Given the description of an element on the screen output the (x, y) to click on. 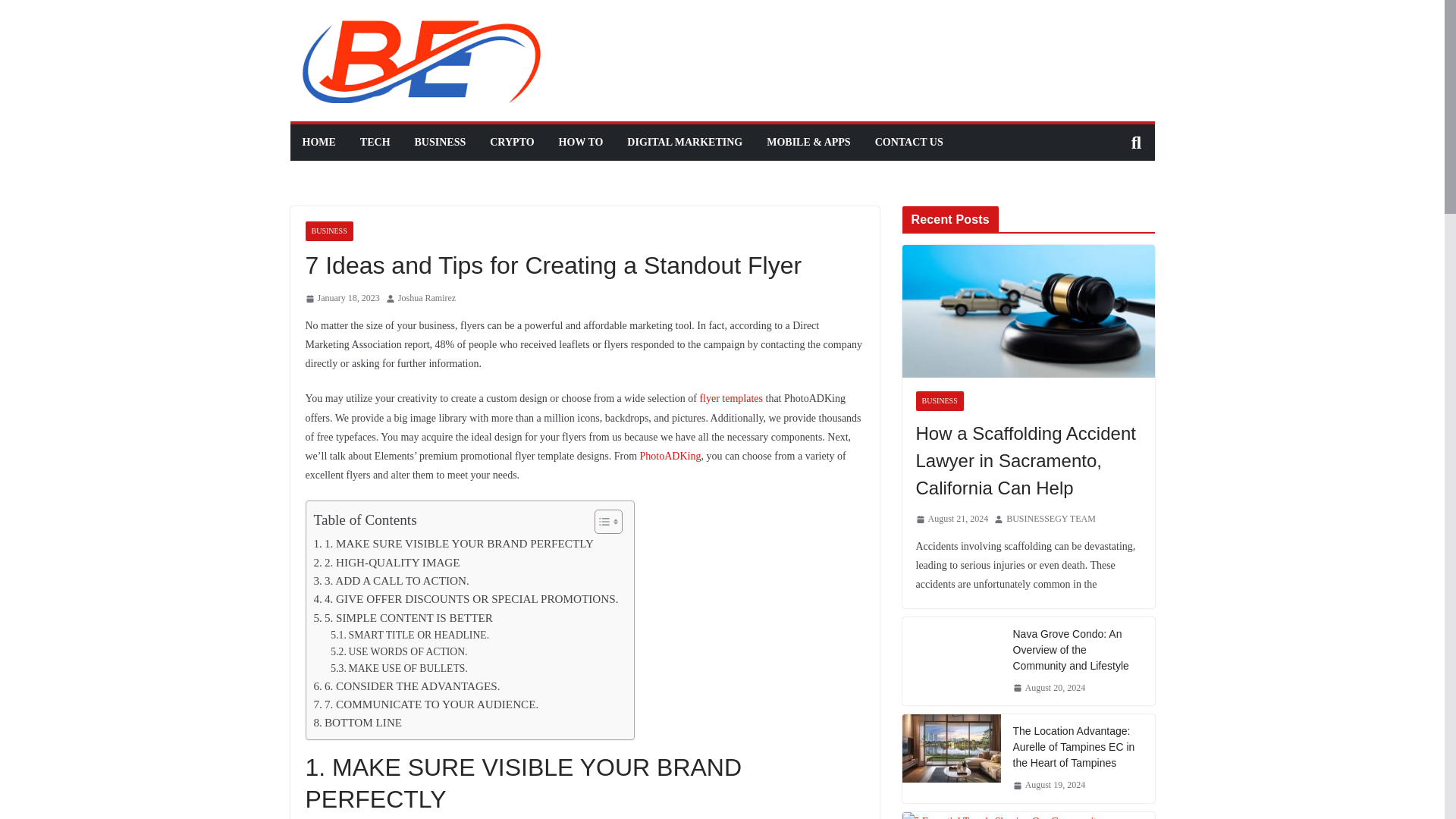
4. GIVE OFFER DISCOUNTS OR SPECIAL PROMOTIONS. (466, 598)
2. HIGH-QUALITY IMAGE (387, 562)
7. COMMUNICATE TO YOUR AUDIENCE. (426, 704)
4. GIVE OFFER DISCOUNTS OR SPECIAL PROMOTIONS. (466, 598)
BUSINESS (439, 142)
3. ADD A CALL TO ACTION. (391, 580)
January 18, 2023 (341, 298)
5. SIMPLE CONTENT IS BETTER (403, 618)
USE WORDS OF ACTION. (398, 651)
Joshua Ramirez (426, 298)
